Given the description of an element on the screen output the (x, y) to click on. 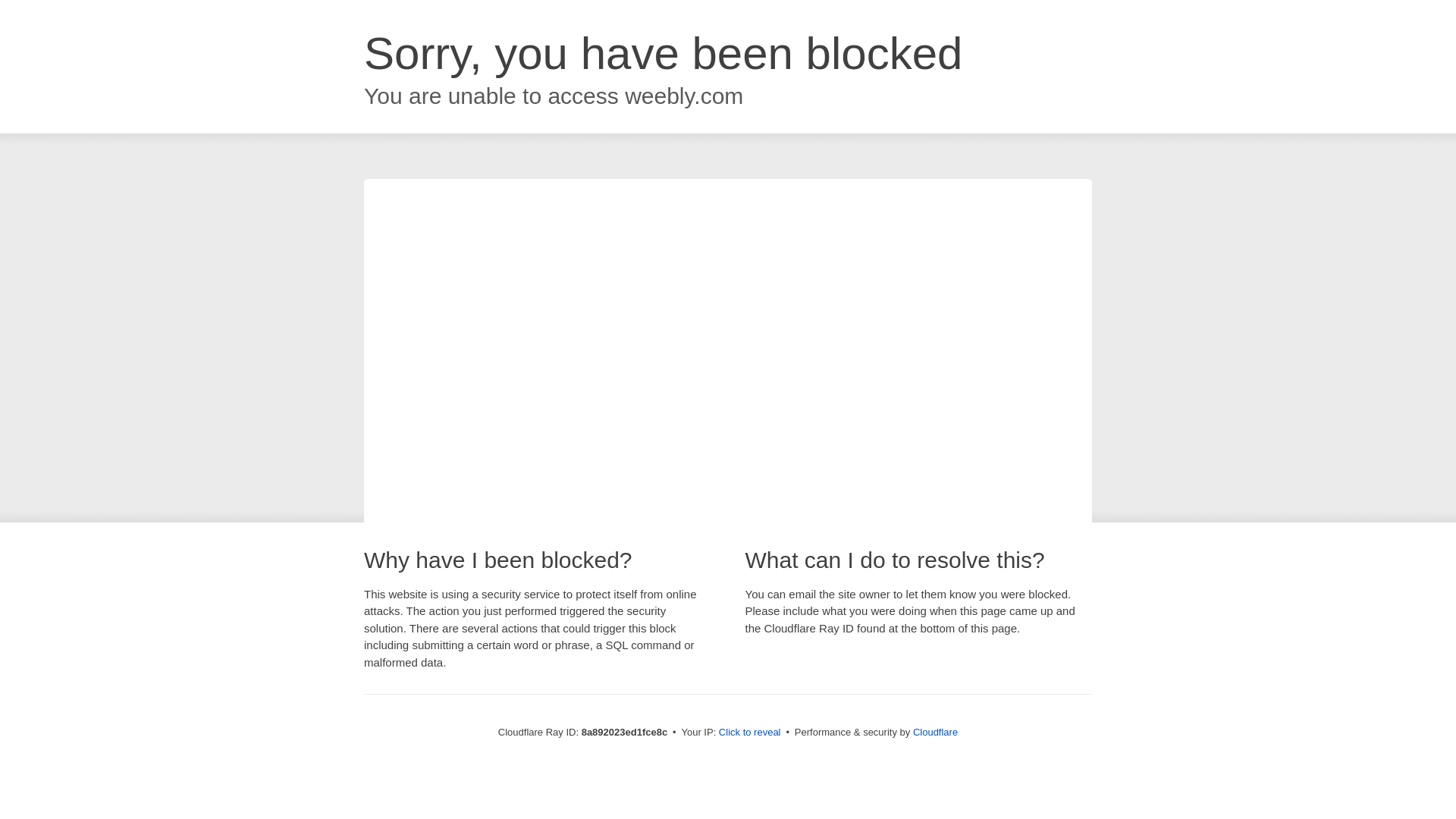
Click to reveal (749, 732)
Cloudflare (935, 731)
